Given the description of an element on the screen output the (x, y) to click on. 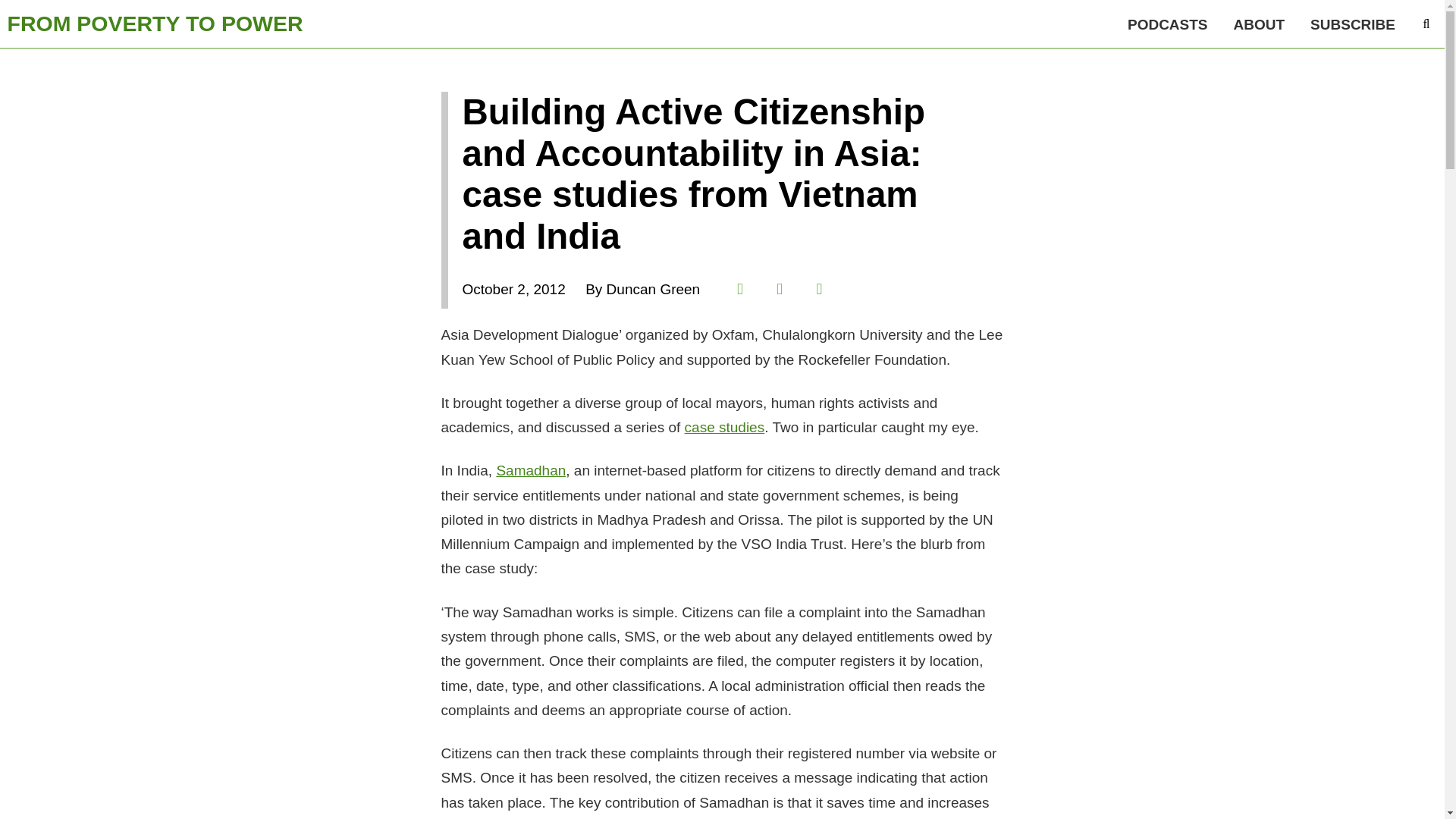
PODCASTS (1168, 24)
case studies (724, 426)
FROM POVERTY TO POWER (154, 23)
ABOUT (1259, 24)
SUBSCRIBE (1352, 24)
Samadhan (531, 470)
